Given the description of an element on the screen output the (x, y) to click on. 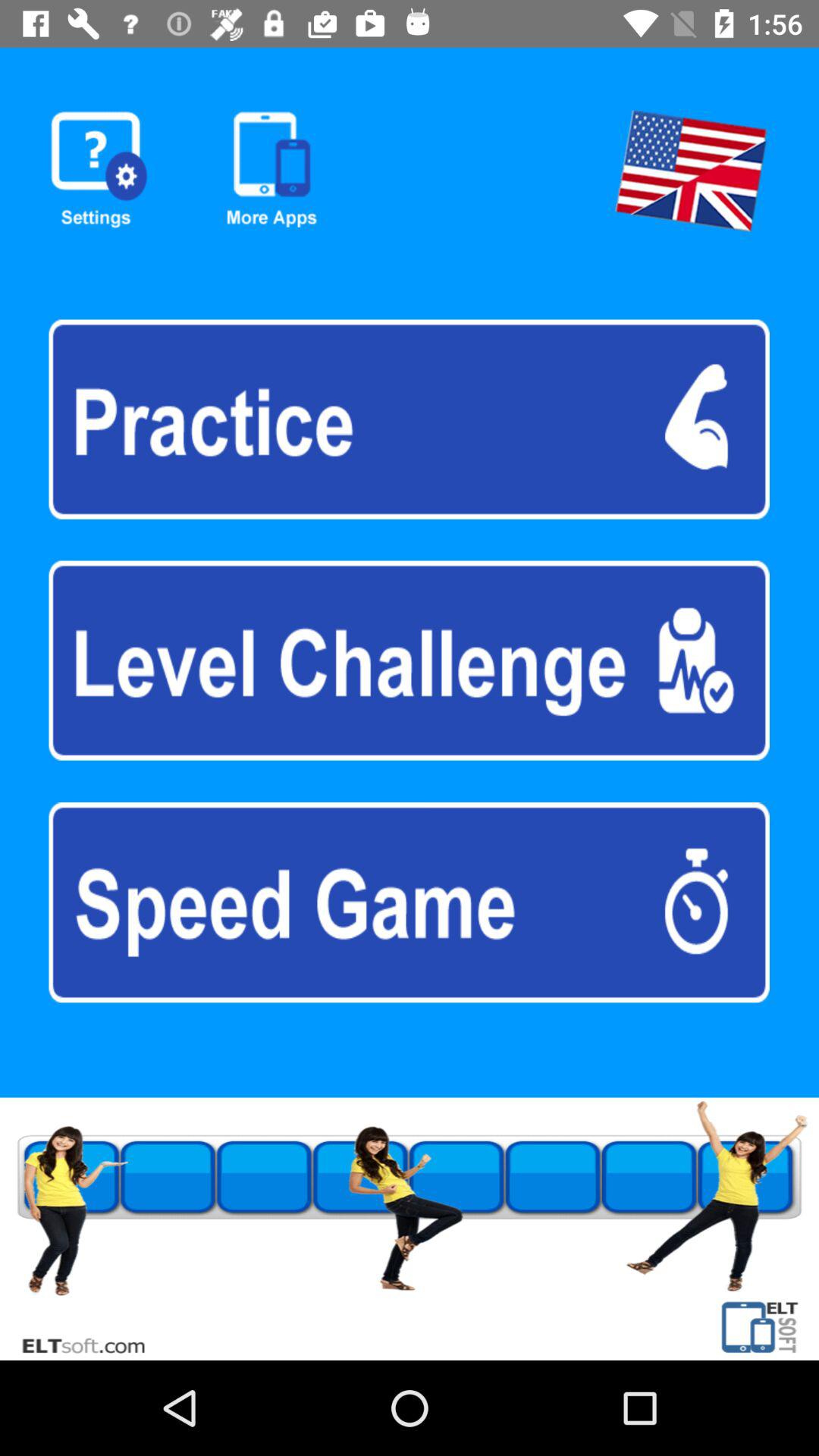
try speed game (408, 902)
